Given the description of an element on the screen output the (x, y) to click on. 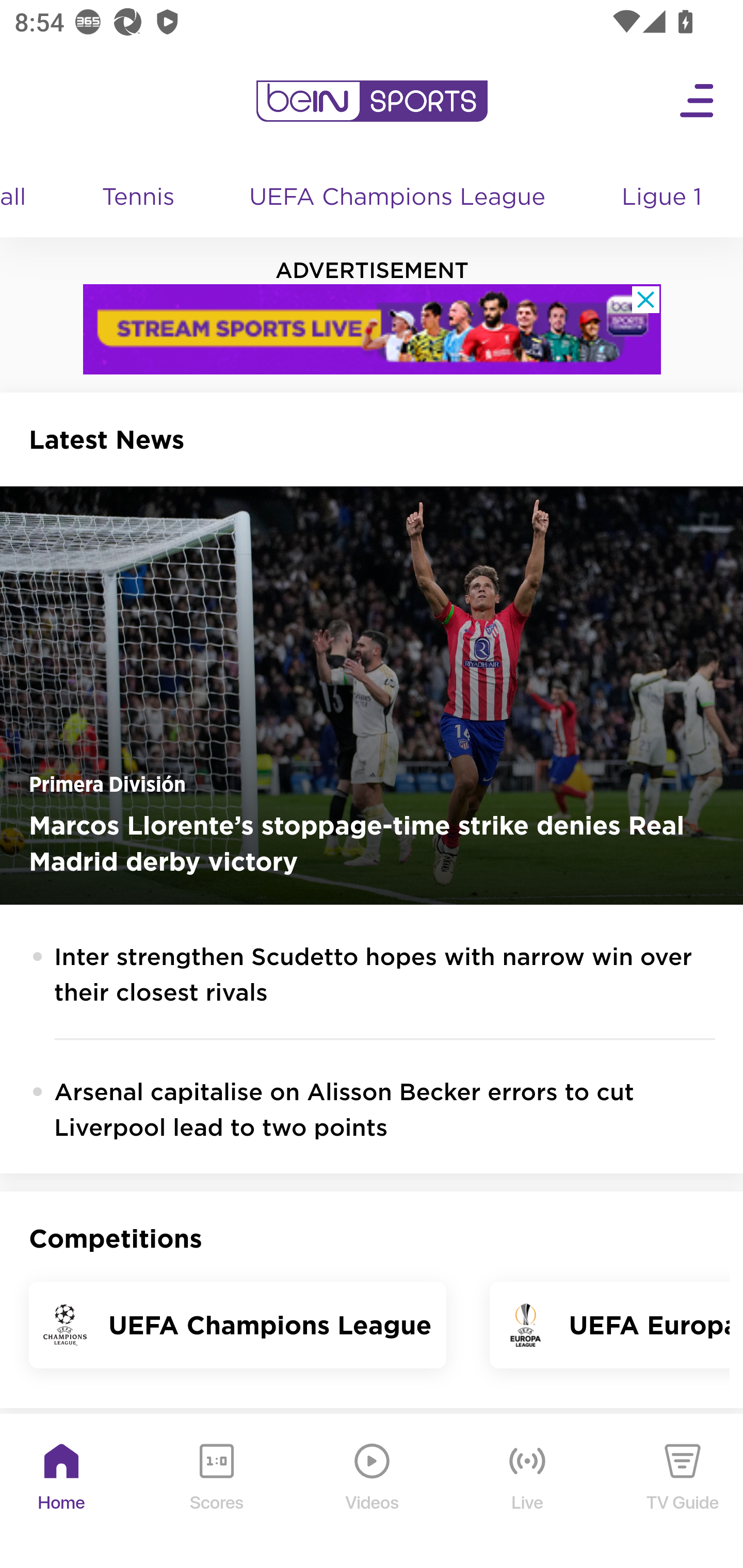
en-my?platform=mobile_android bein logo (371, 101)
Open Menu Icon (697, 101)
Tennis (139, 198)
UEFA Champions League (399, 198)
Ligue 1 (663, 198)
l8psv8uu (372, 328)
Home Home Icon Home (61, 1491)
Scores Scores Icon Scores (216, 1491)
Videos Videos Icon Videos (372, 1491)
TV Guide TV Guide Icon TV Guide (682, 1491)
